Given the description of an element on the screen output the (x, y) to click on. 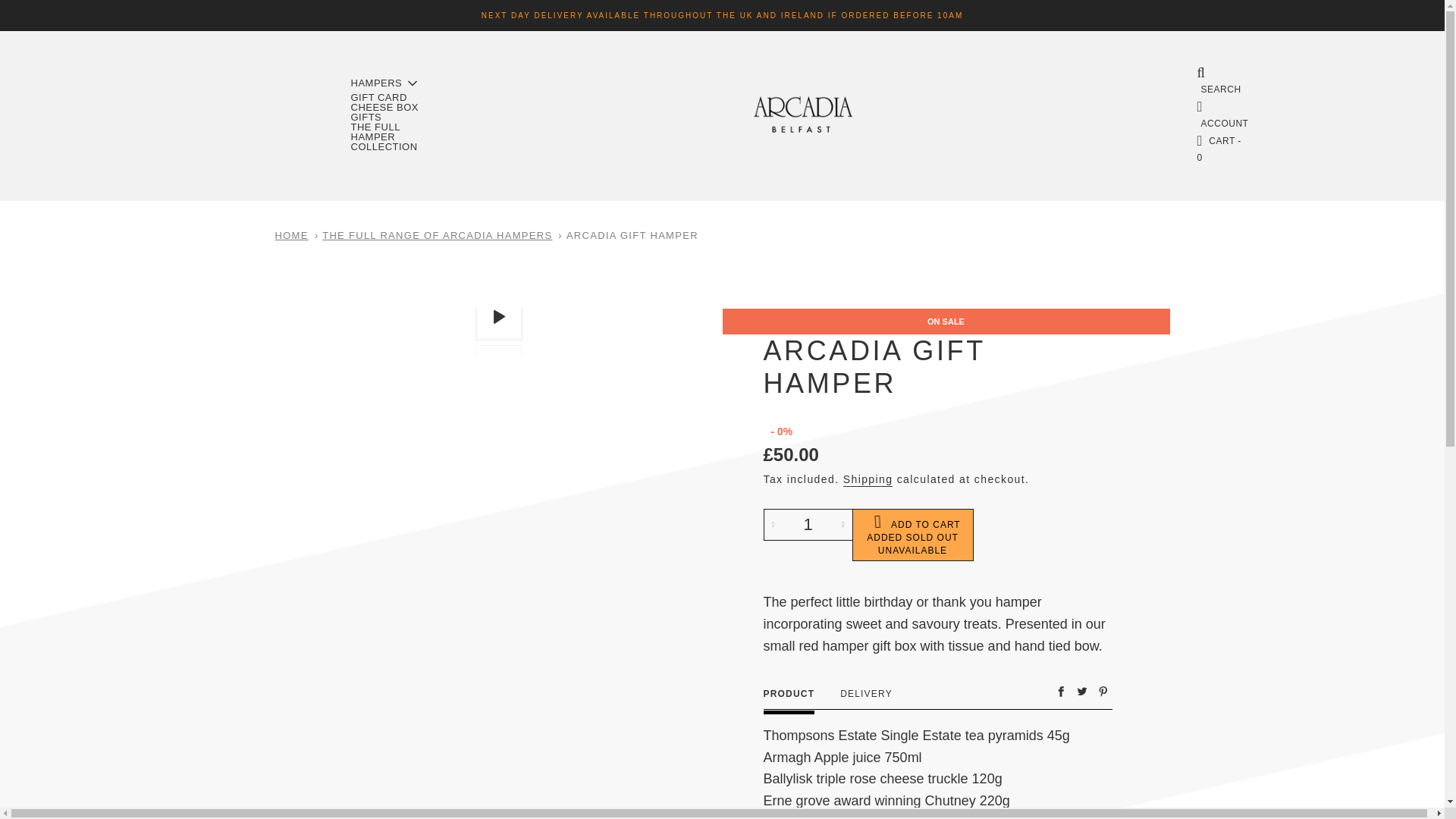
CART - 0 (1222, 148)
Log in (1222, 113)
PRODUCT (787, 693)
HOME (292, 236)
ACCOUNT (1222, 113)
1 (807, 523)
Shipping (868, 479)
CHEESE BOX GIFTS (390, 112)
Back to the frontpage (292, 236)
GIFT CARD (383, 97)
